Given the description of an element on the screen output the (x, y) to click on. 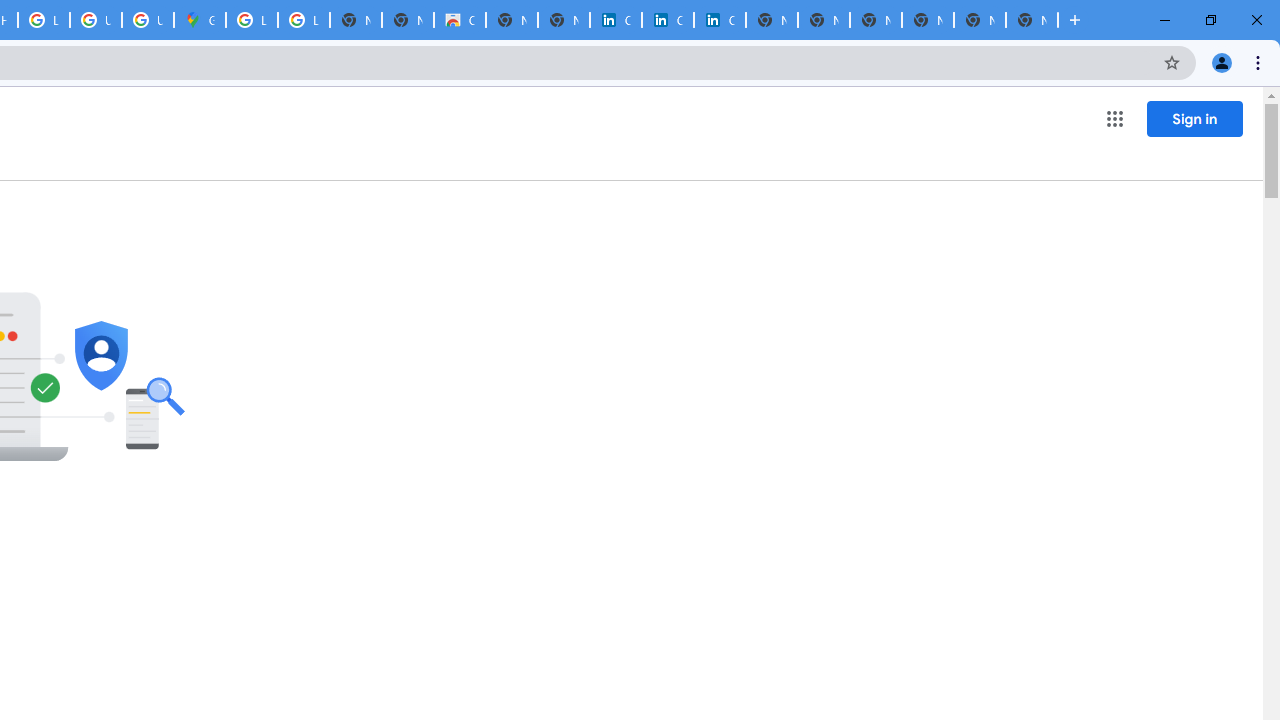
Chrome Web Store (459, 20)
Cookie Policy | LinkedIn (616, 20)
